Given the description of an element on the screen output the (x, y) to click on. 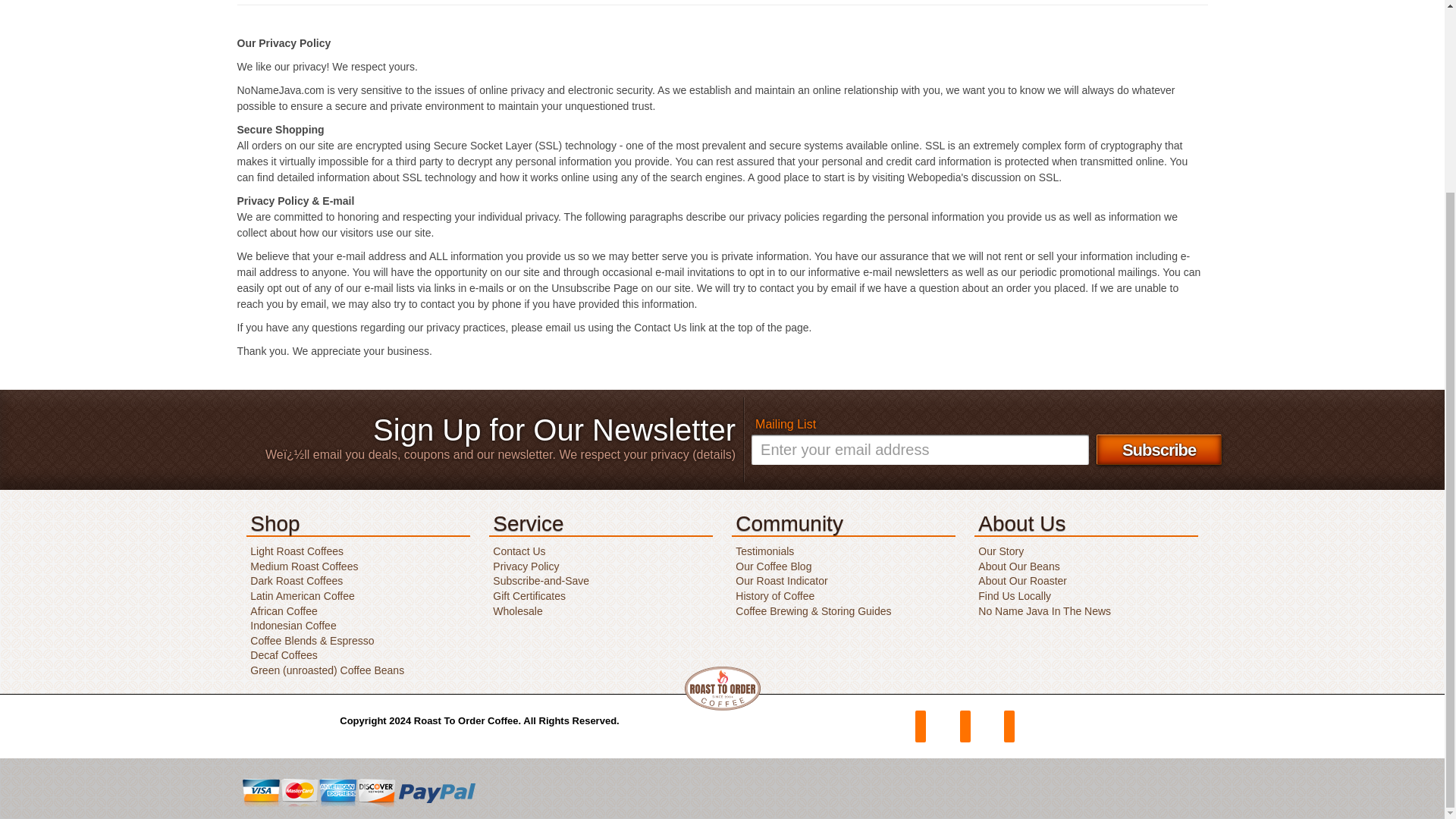
Our Story (998, 551)
Contact Us (516, 551)
Our Coffee Blog (771, 566)
Light Roast Coffees (294, 551)
Find Us Locally (1012, 595)
African Coffee (281, 611)
Wholesale (515, 611)
Latin American Coffee (300, 595)
Decaf Coffees (281, 654)
Indonesian Coffee (291, 625)
Testimonials (762, 551)
Our Roast Indicator (779, 580)
About Our Roaster (1020, 580)
Privacy Policy (524, 566)
